Given the description of an element on the screen output the (x, y) to click on. 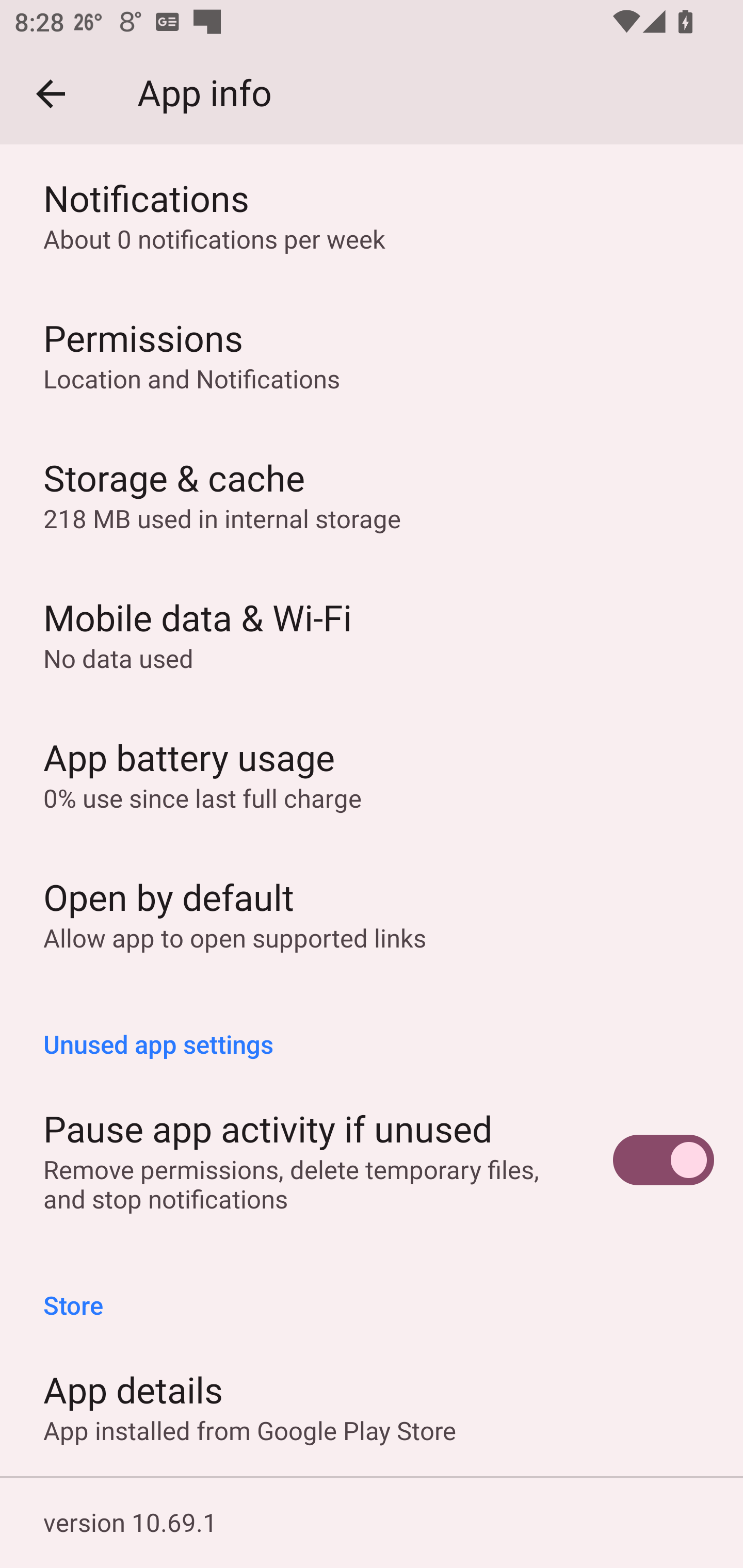
Navigate up (50, 93)
Notifications About 0 notifications per week (371, 214)
Permissions Location and Notifications (371, 354)
Storage & cache 218 MB used in internal storage (371, 494)
Mobile data & Wi‑Fi No data used (371, 634)
App battery usage 0% use since last full charge (371, 773)
Open by default Allow app to open supported links (371, 913)
App details App installed from Google Play Store (371, 1405)
